Given the description of an element on the screen output the (x, y) to click on. 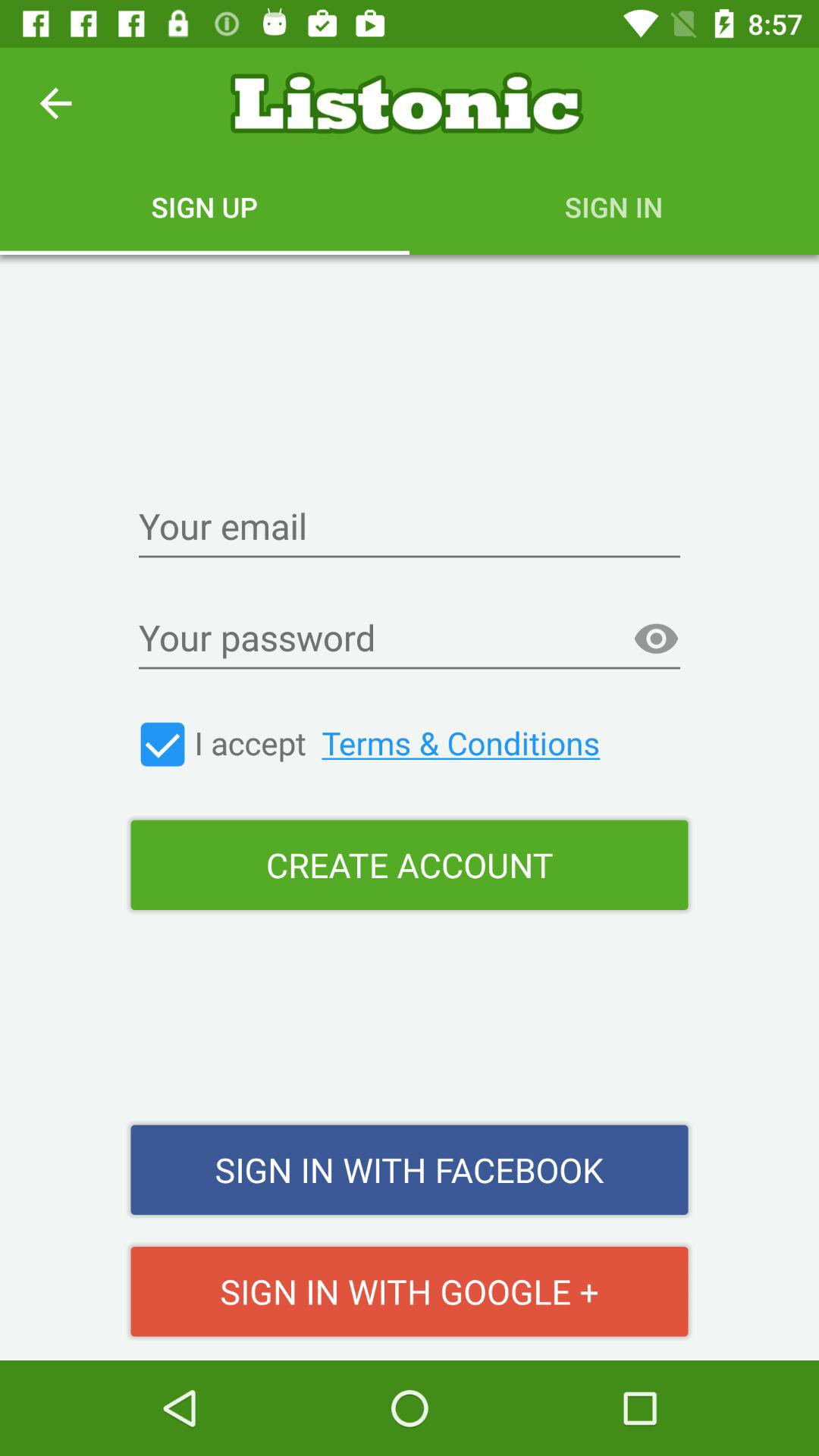
launch item on the right (656, 639)
